Given the description of an element on the screen output the (x, y) to click on. 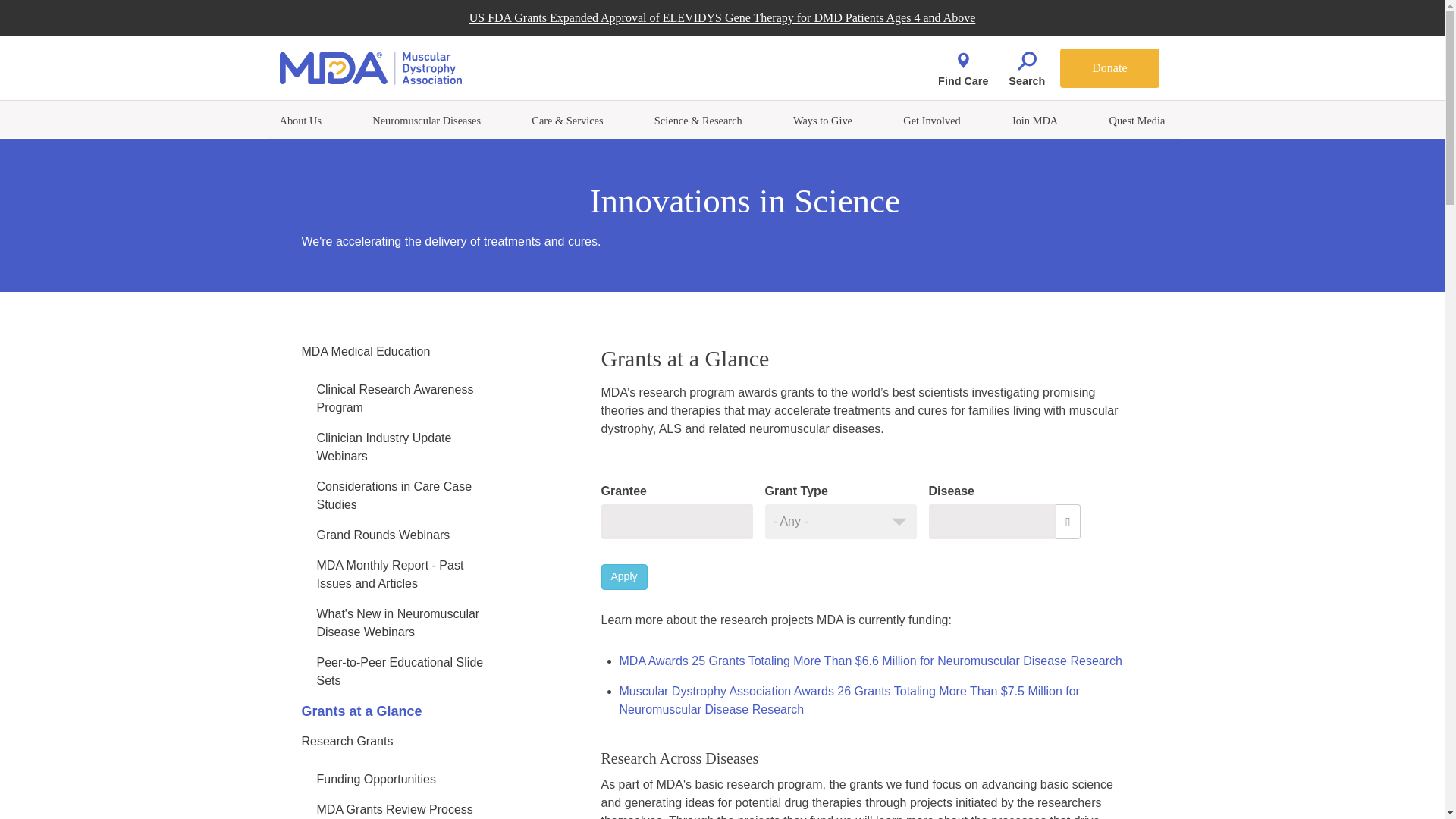
Neuromuscular Diseases (426, 120)
About Us (300, 120)
